Given the description of an element on the screen output the (x, y) to click on. 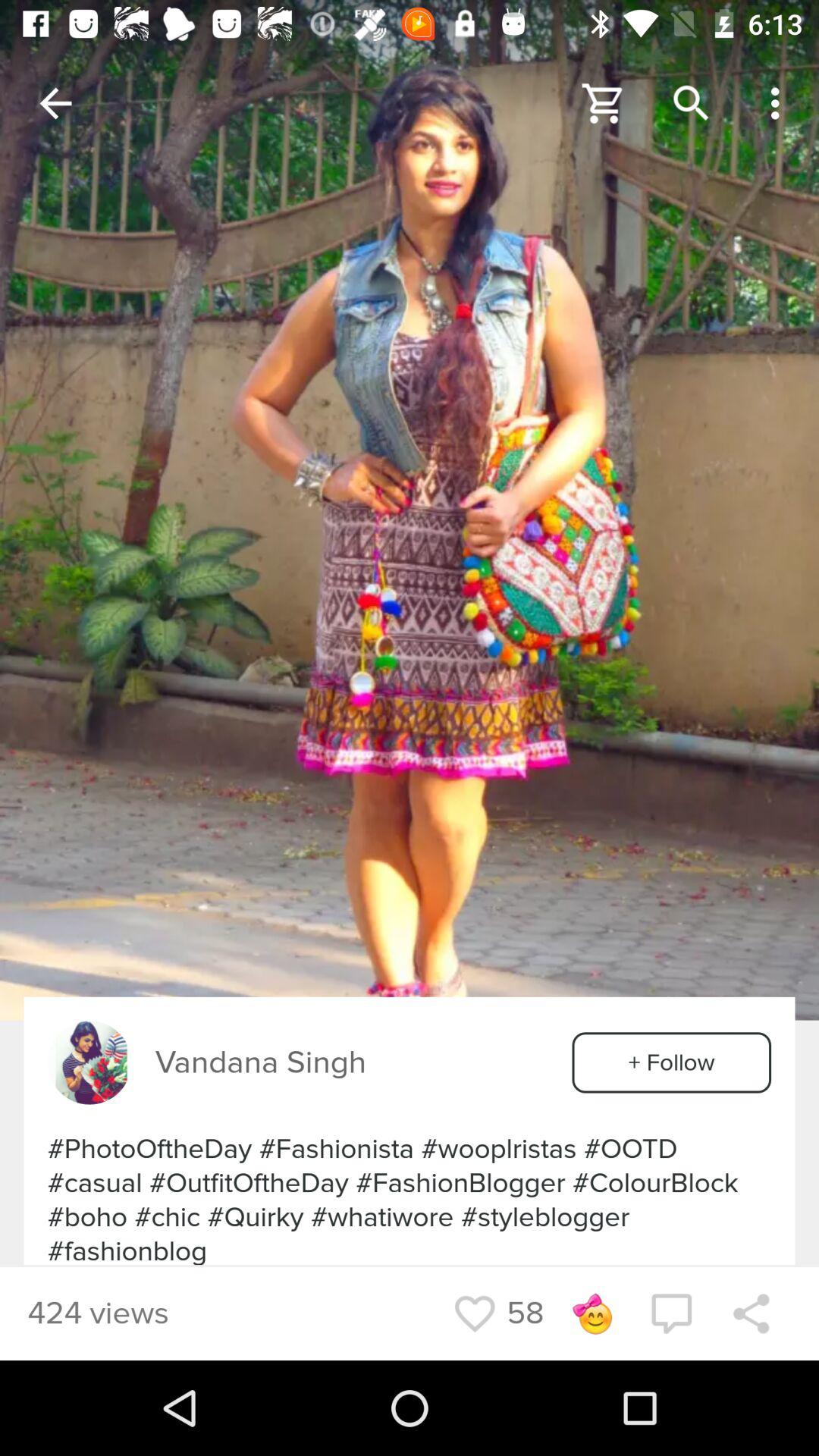
add to cart (603, 103)
